Given the description of an element on the screen output the (x, y) to click on. 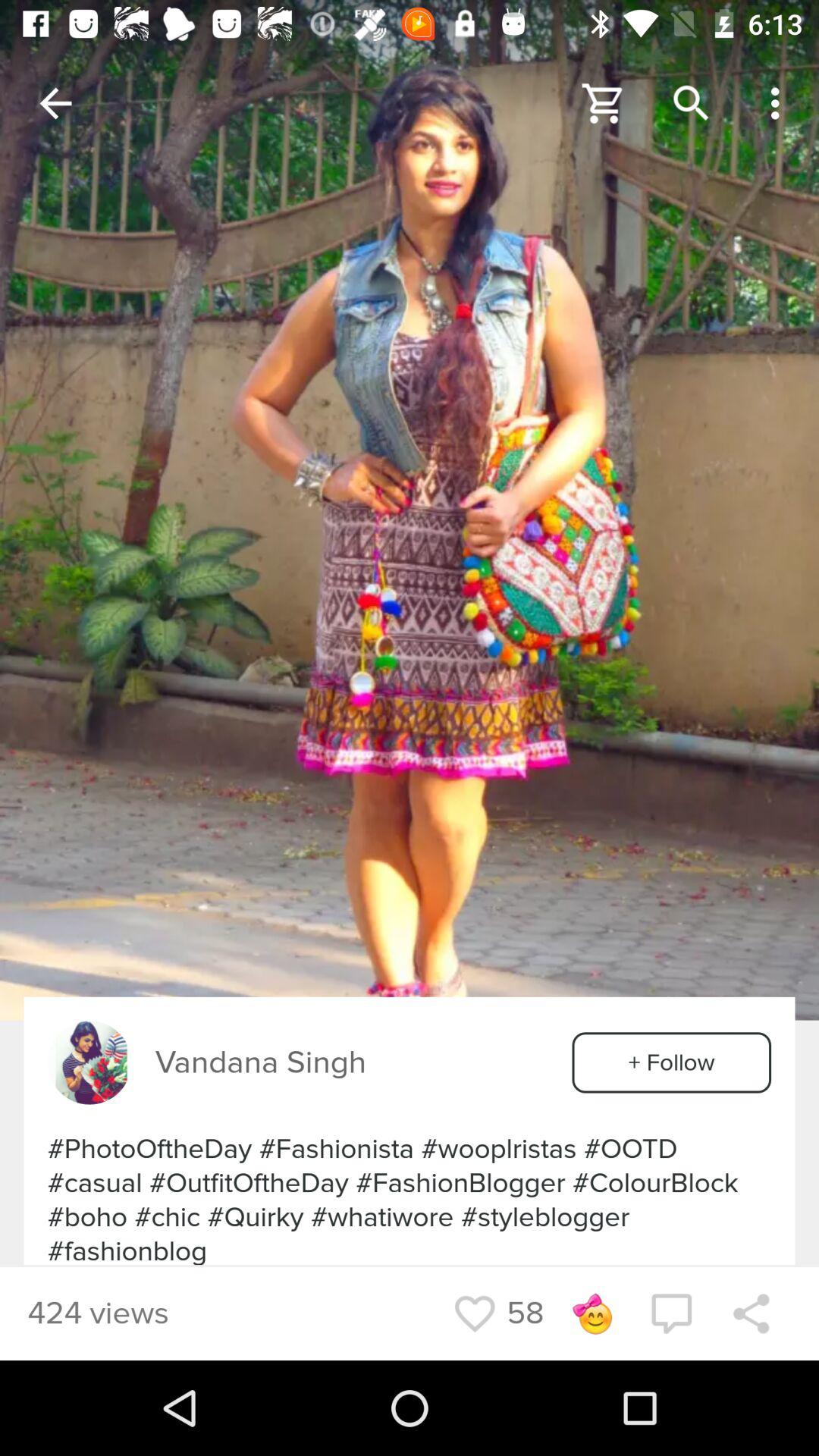
add to cart (603, 103)
